Given the description of an element on the screen output the (x, y) to click on. 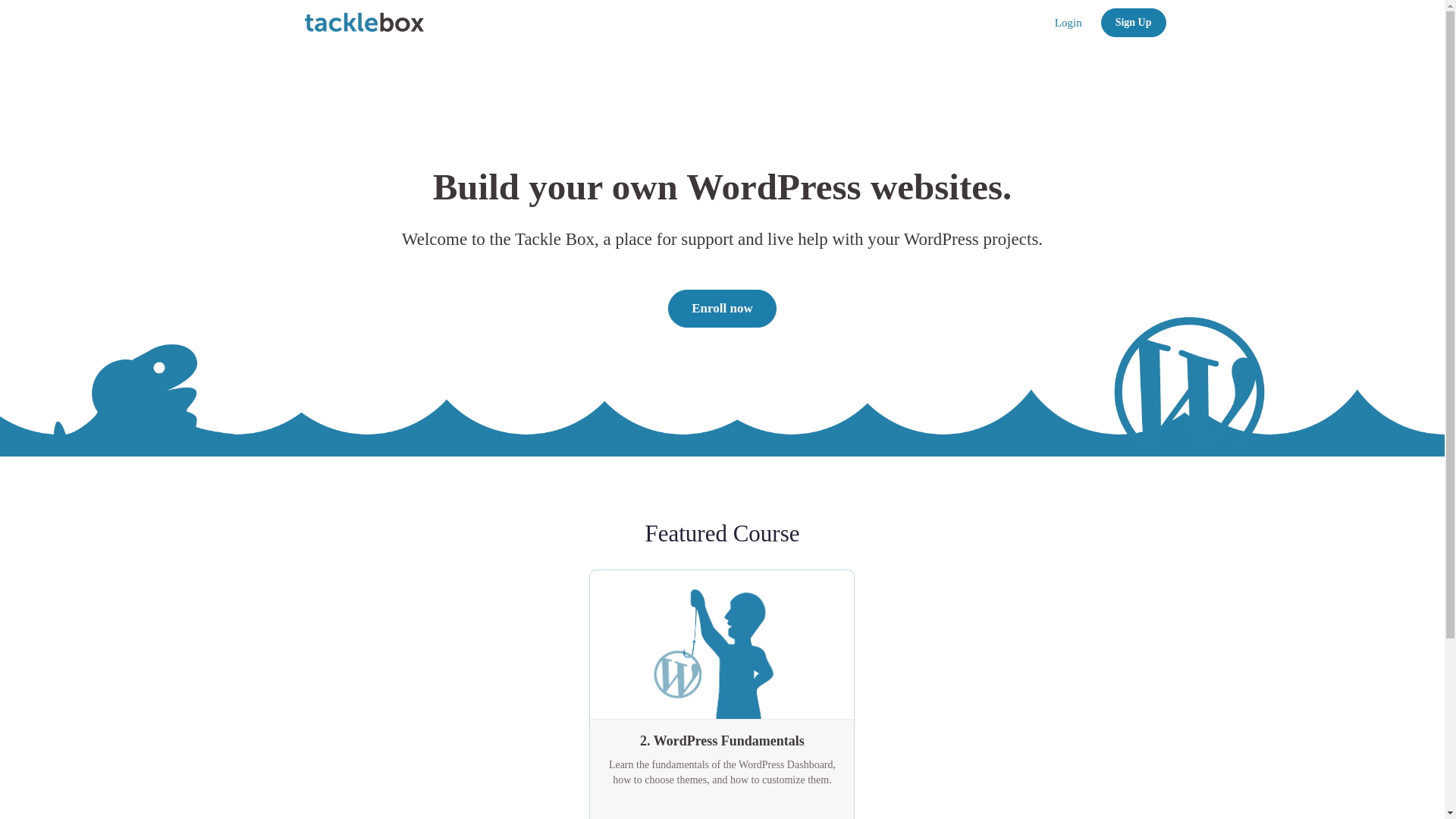
Sign Up (1133, 22)
2. WordPress Fundamentals (721, 736)
Login (1068, 22)
Enroll now (722, 308)
